Given the description of an element on the screen output the (x, y) to click on. 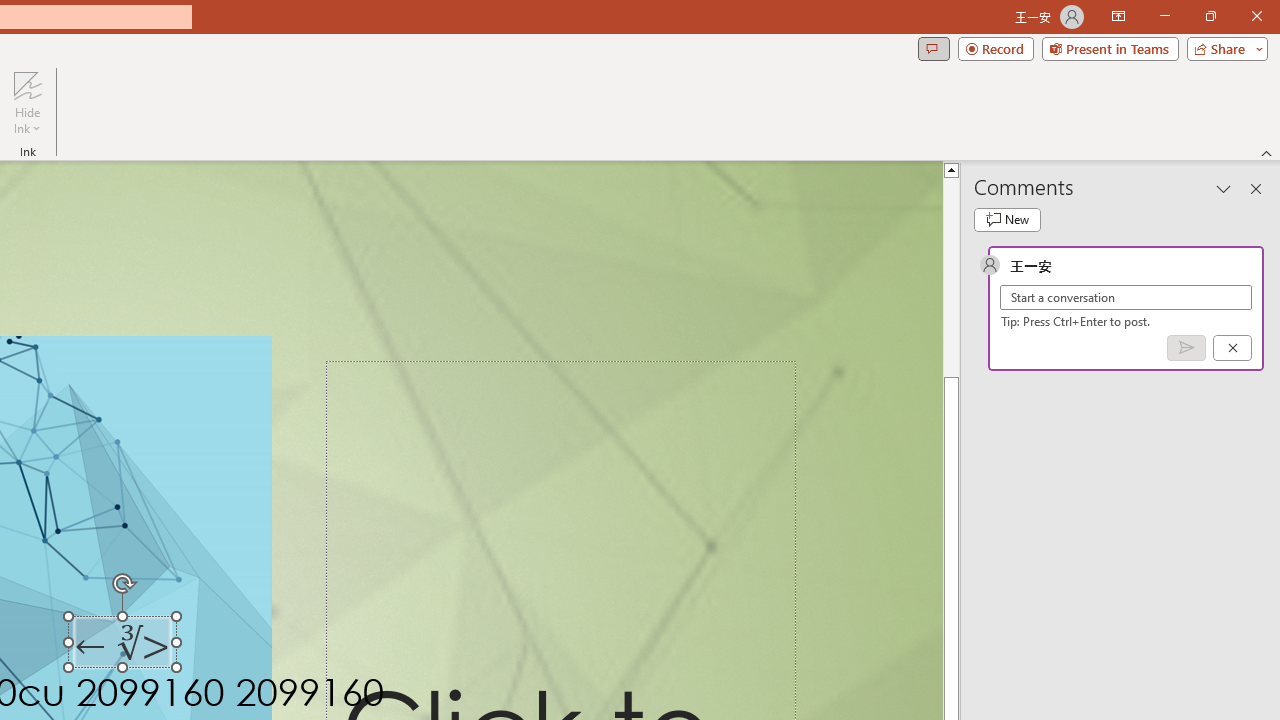
Cancel (1232, 347)
New comment (1007, 219)
